Given the description of an element on the screen output the (x, y) to click on. 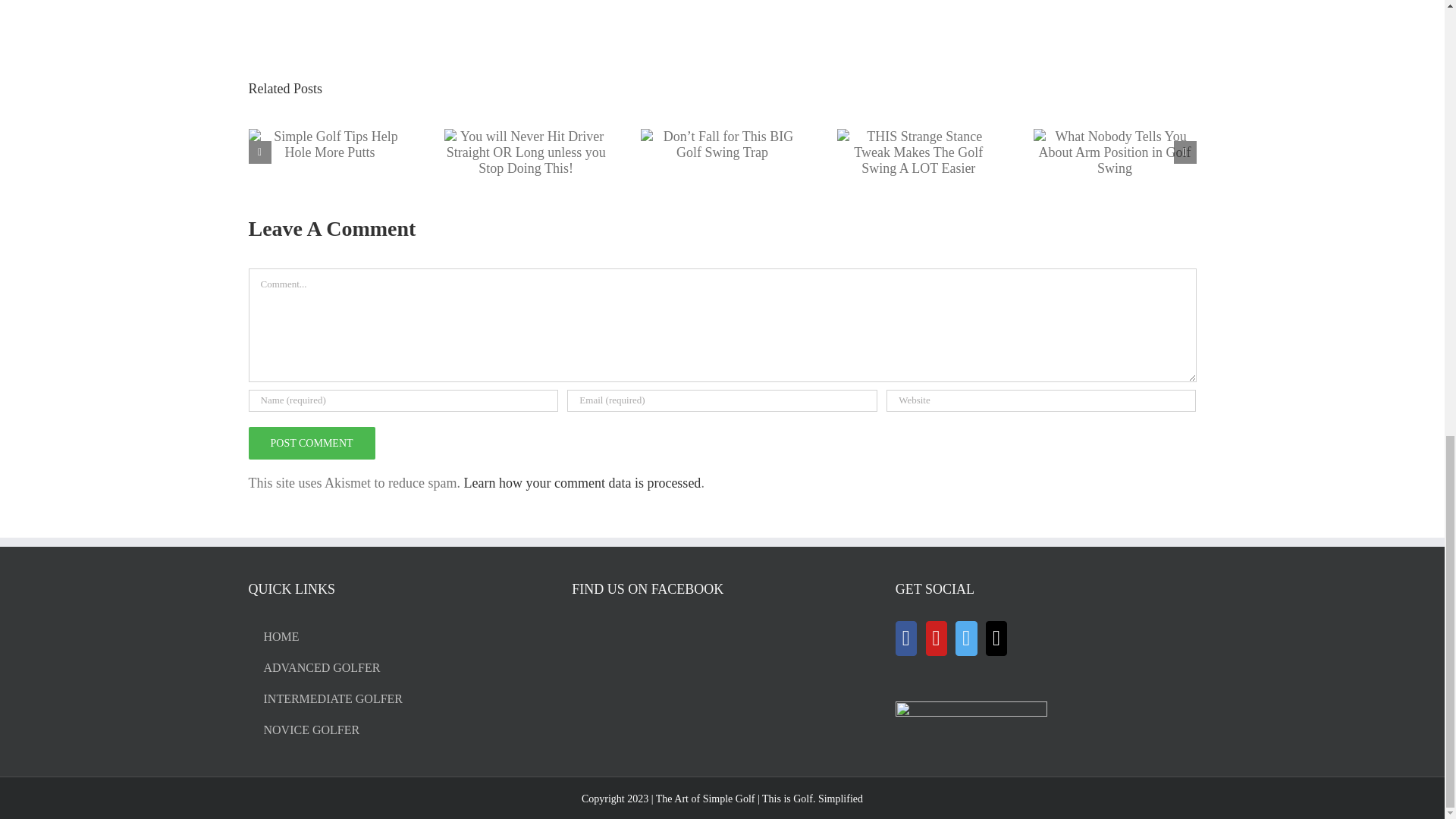
YouTube (936, 638)
Facebook (906, 638)
Post Comment (311, 442)
Twitter (965, 638)
